Given the description of an element on the screen output the (x, y) to click on. 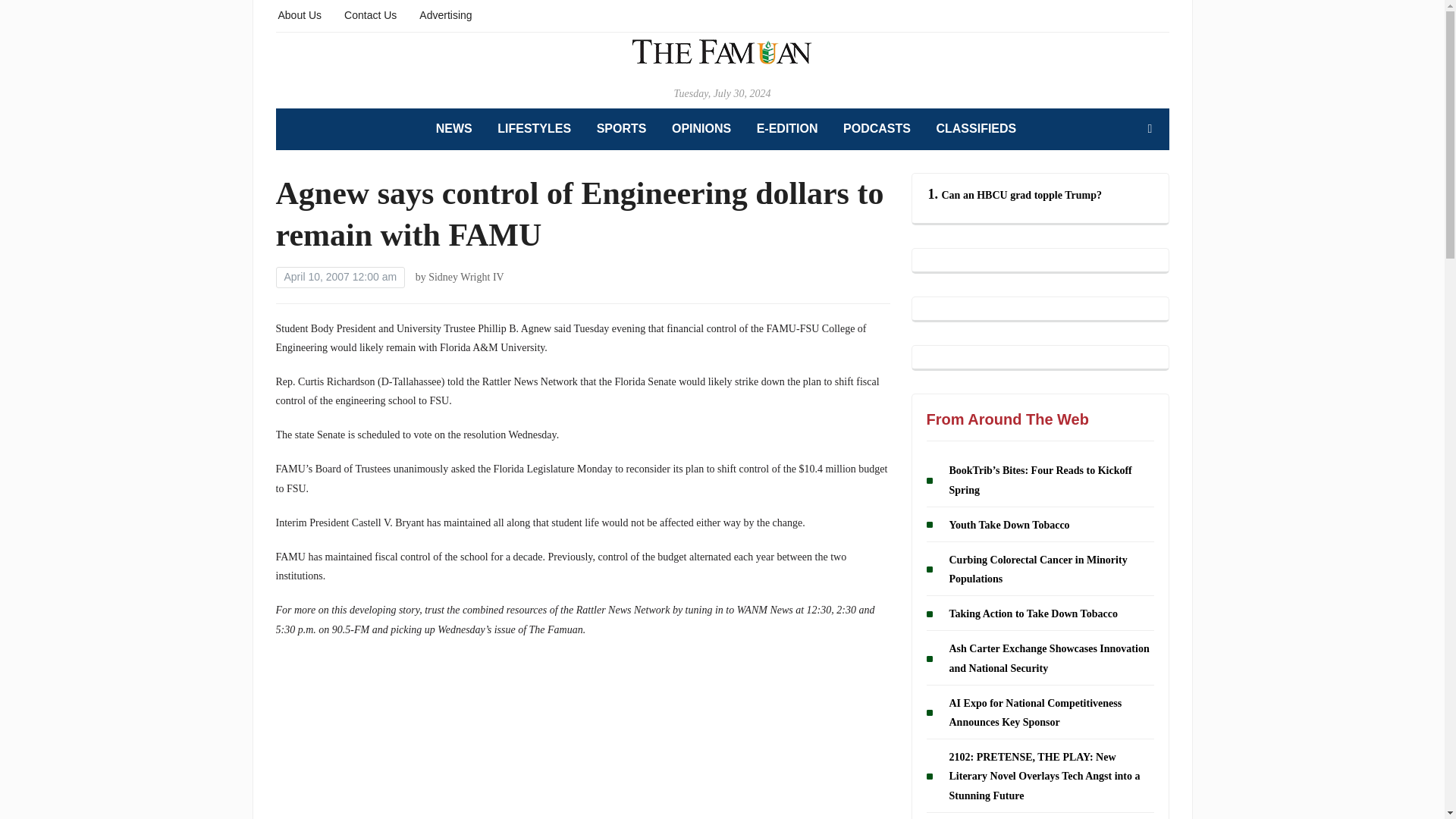
SPORTS (621, 128)
Can an HBCU grad topple Trump? (1022, 194)
Taking Action to Take Down Tobacco (1033, 613)
CLASSIFIEDS (976, 128)
AI Expo for National Competitiveness Announces Key Sponsor (1035, 712)
E-EDITION (787, 128)
OPINIONS (700, 128)
NEWS (453, 128)
Search (1149, 128)
Permanent Link to Can an HBCU grad topple Trump? (1022, 194)
AI Expo for National Competitiveness Announces Key Sponsor (1035, 712)
Youth Take Down Tobacco (1009, 524)
Contact Us (369, 14)
